Given the description of an element on the screen output the (x, y) to click on. 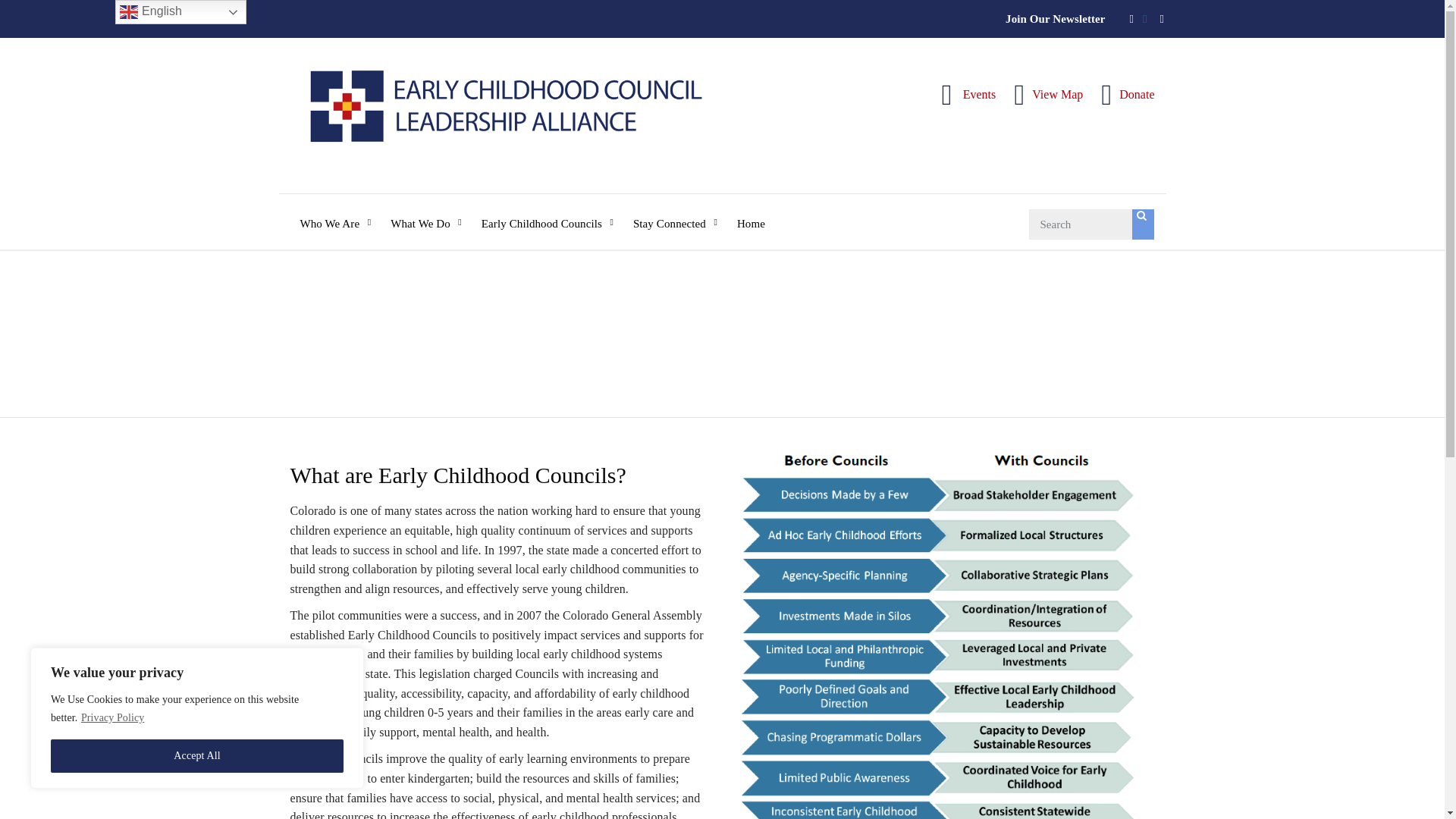
Donate (1127, 93)
View Map (1048, 93)
Events (968, 93)
Who We Are (335, 213)
Privacy Policy (112, 717)
What We Do (425, 213)
Accept All (196, 756)
